Given the description of an element on the screen output the (x, y) to click on. 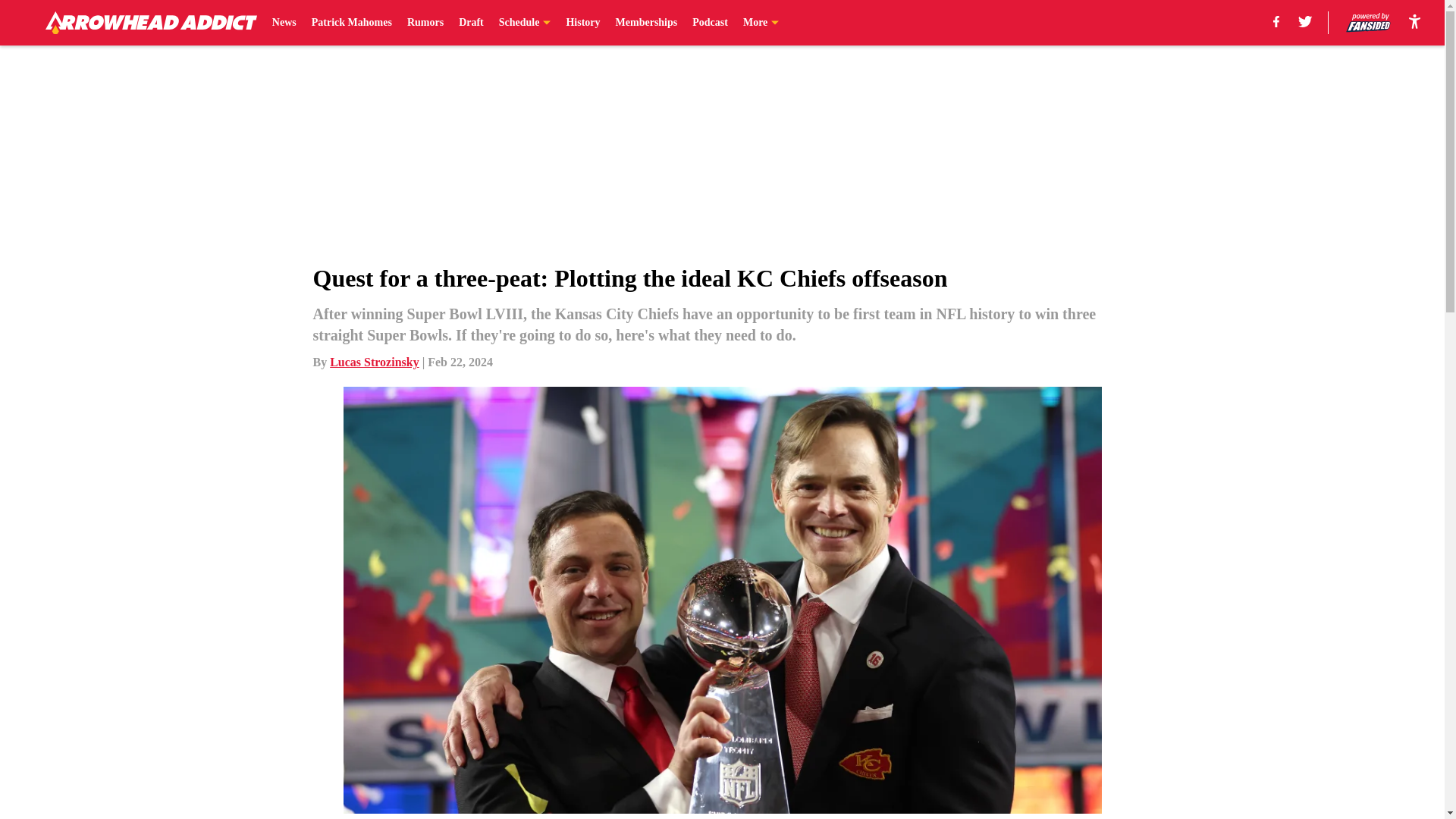
Podcast (710, 22)
Rumors (425, 22)
Patrick Mahomes (351, 22)
News (284, 22)
Lucas Strozinsky (374, 361)
Draft (470, 22)
History (582, 22)
Memberships (646, 22)
